Given the description of an element on the screen output the (x, y) to click on. 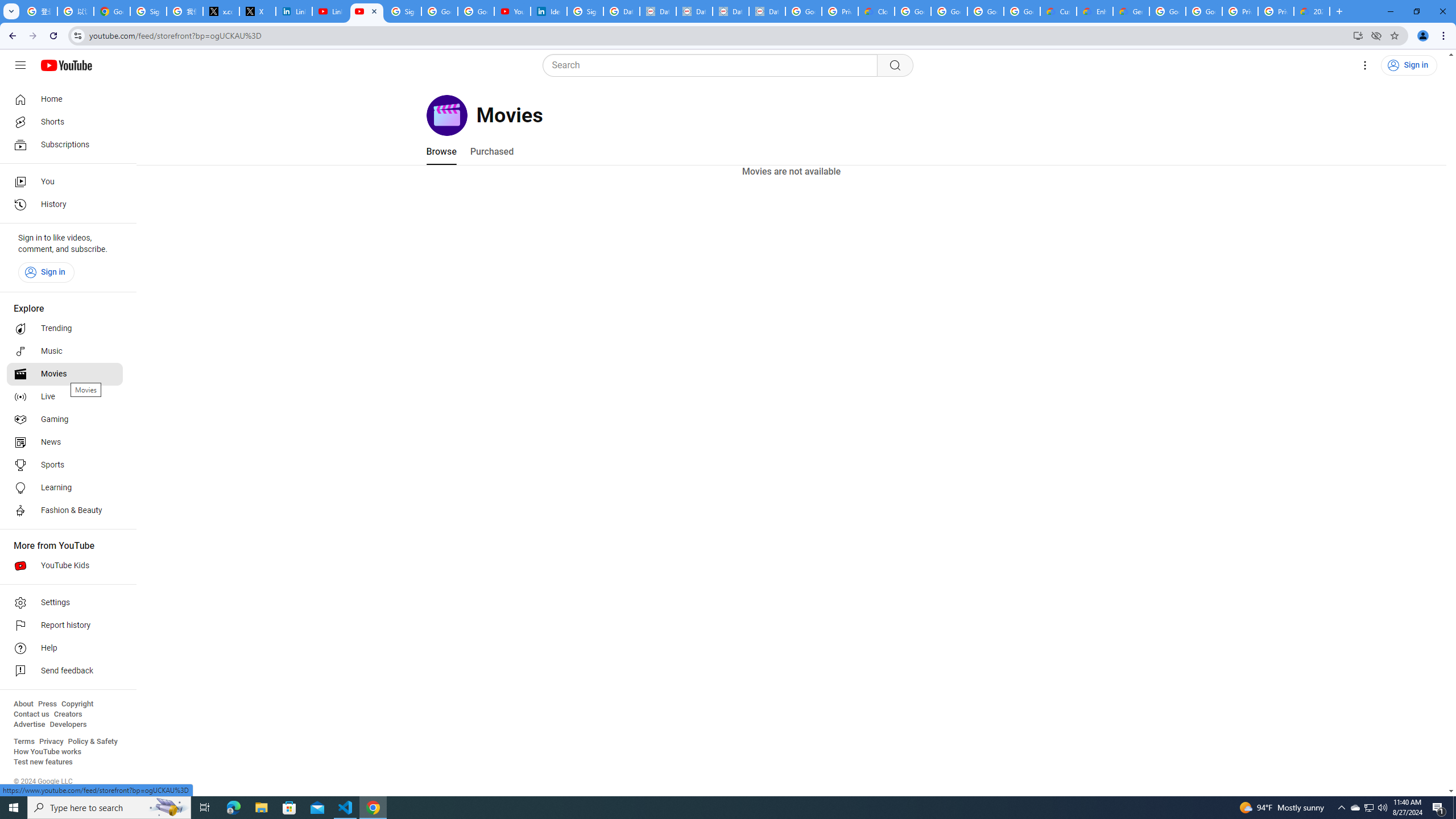
Sign in - Google Accounts (585, 11)
Report history (64, 625)
Guide (20, 65)
Data Privacy Framework (767, 11)
LinkedIn - YouTube (330, 11)
Fashion & Beauty (64, 510)
History (64, 204)
